Given the description of an element on the screen output the (x, y) to click on. 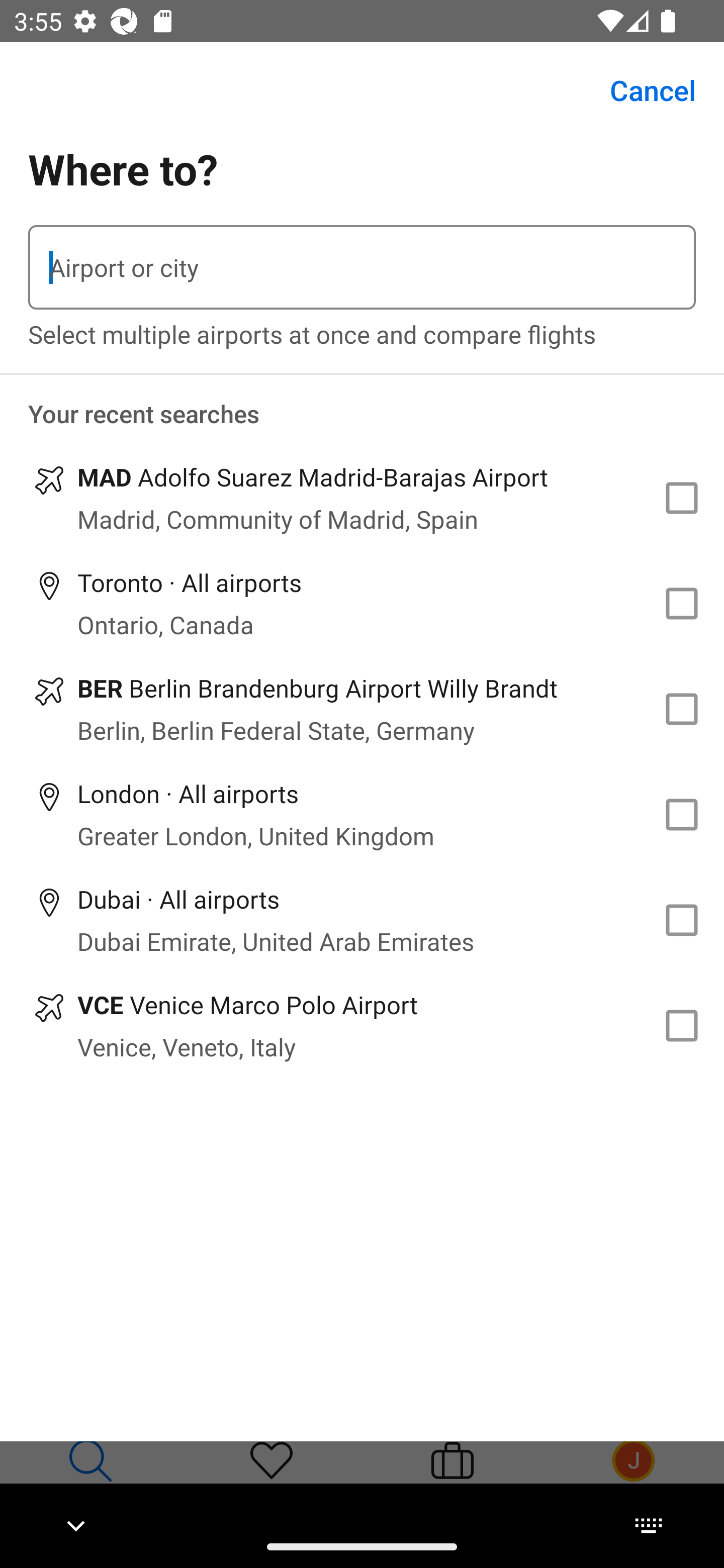
Cancel (641, 90)
Airport or city (361, 266)
Toronto · All airports Ontario, Canada (362, 603)
